Given the description of an element on the screen output the (x, y) to click on. 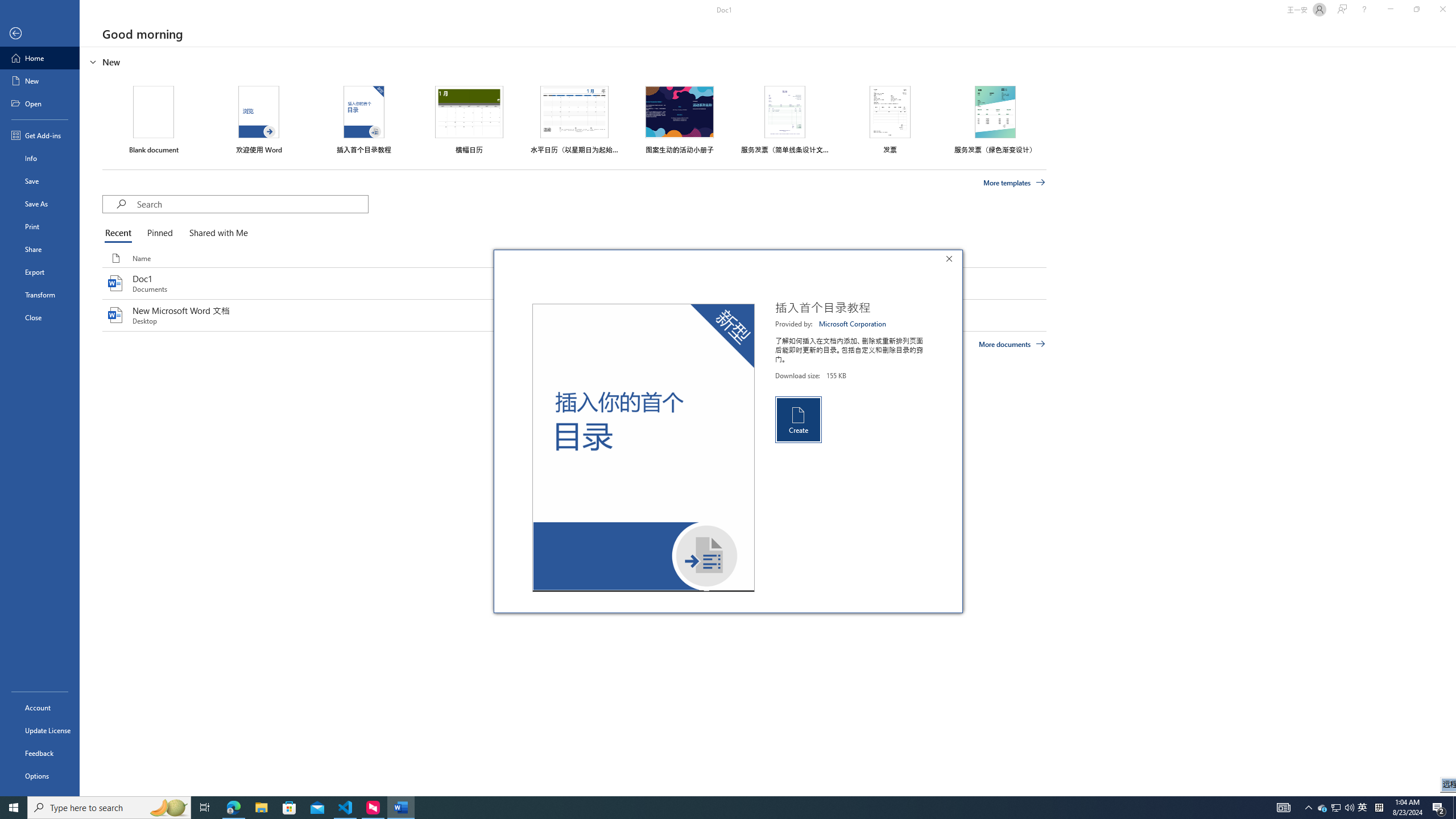
Type here to search (108, 807)
Help (1364, 9)
AutomationID: 4105 (1283, 807)
User Promoted Notification Area (1336, 807)
Open (40, 102)
Update License (40, 730)
Microsoft Edge - 1 running window (233, 807)
Options (40, 775)
Search (252, 203)
Recent (119, 233)
Start (13, 807)
